Given the description of an element on the screen output the (x, y) to click on. 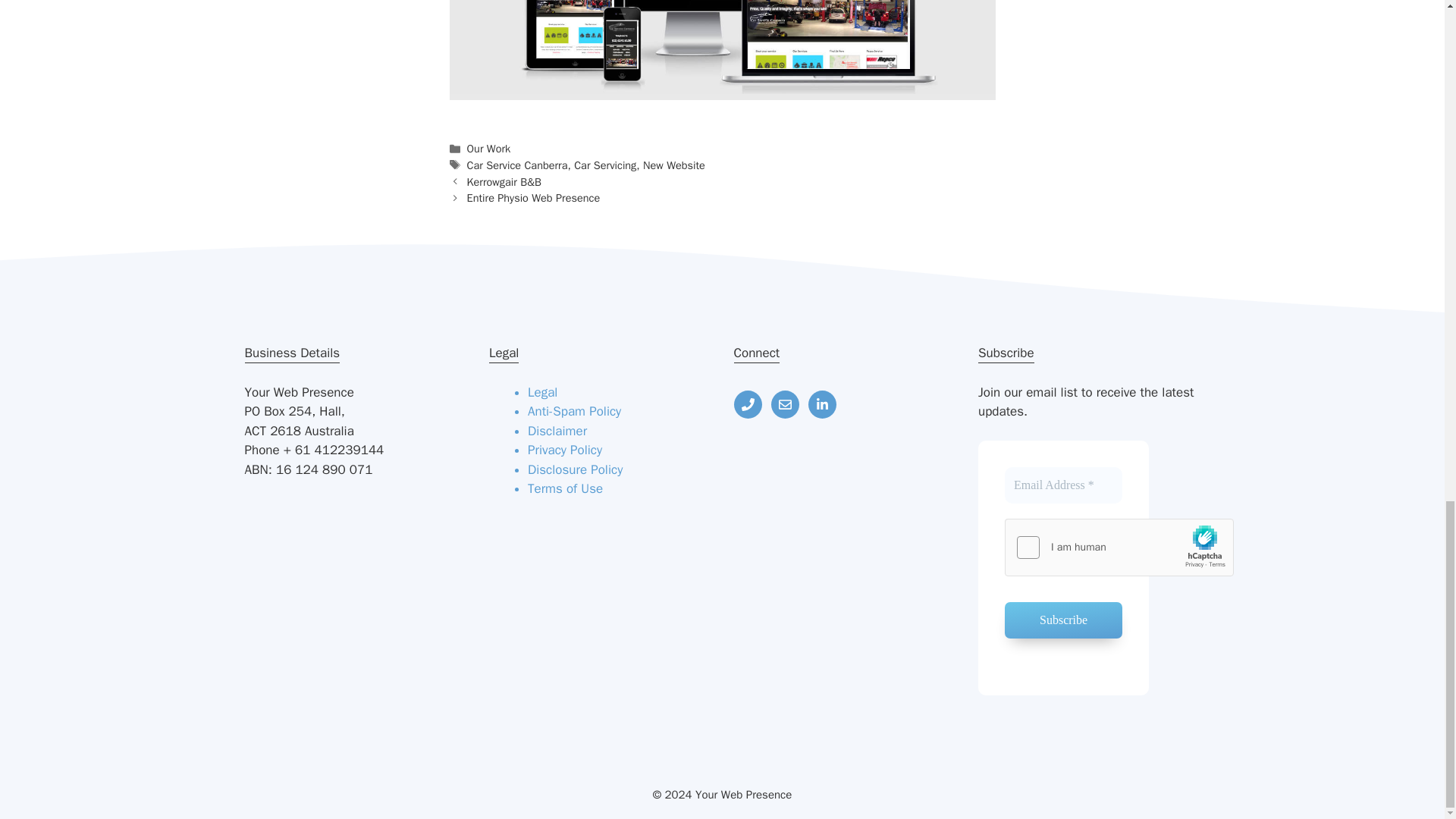
Email Address (1063, 484)
Widget containing checkbox for hCaptcha security challenge (1119, 548)
Subscribe (1063, 619)
Link to Car Service Canberra (721, 89)
New Website (673, 164)
Scroll back to top (1406, 231)
Car Service Canberra (517, 164)
Our Work (489, 148)
Car Servicing (604, 164)
